Given the description of an element on the screen output the (x, y) to click on. 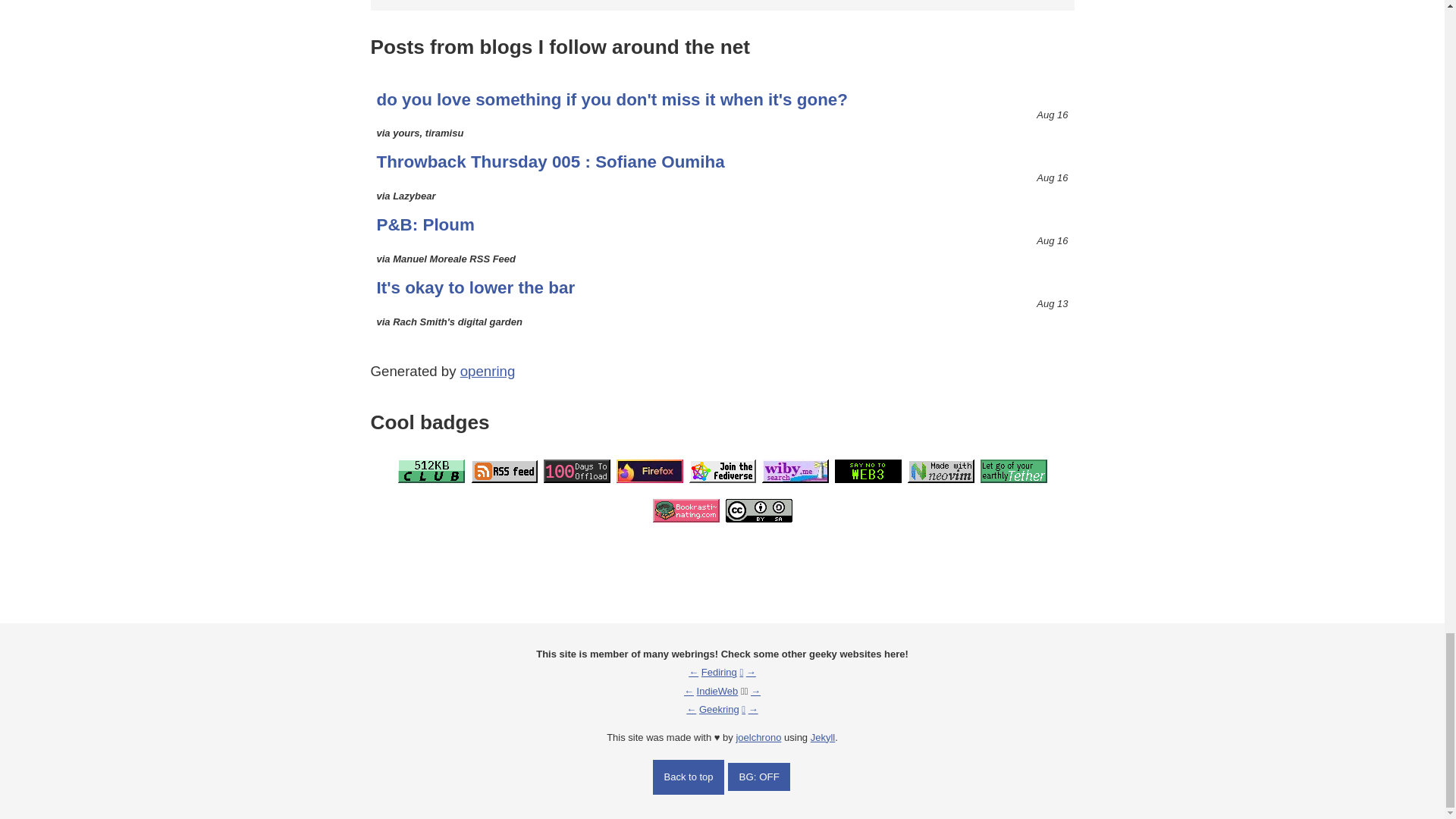
openring (487, 371)
Made with neovim (940, 471)
RSS feed (503, 471)
Anything but Chrome (648, 471)
Join 100 Days To Offload with me! (576, 471)
Switch to Void Linux (1012, 471)
Join me on the Fediverse! (721, 471)
